Given the description of an element on the screen output the (x, y) to click on. 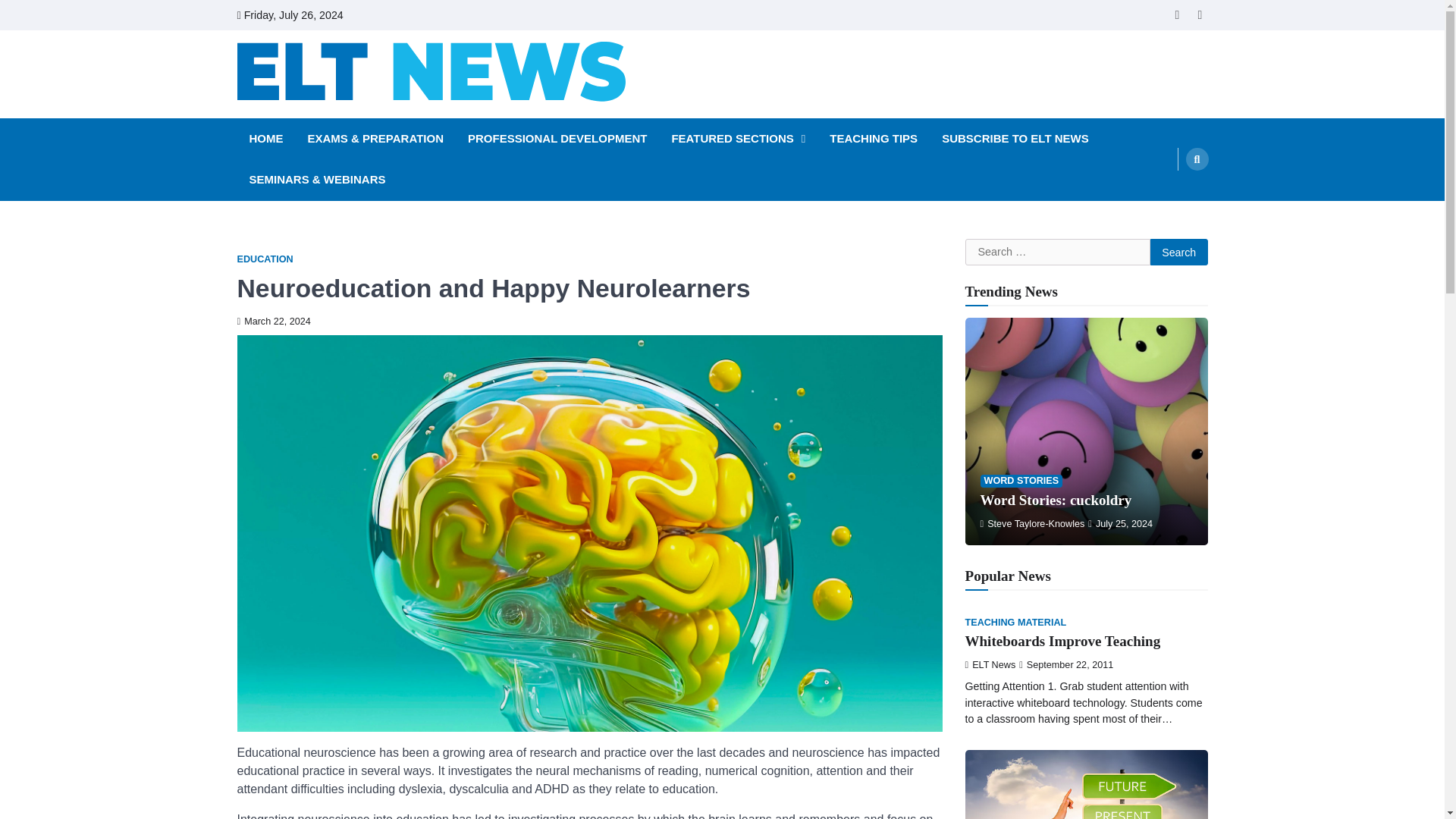
Facebook (1177, 14)
SUBSCRIBE TO ELT NEWS (1015, 139)
TEACHING TIPS (873, 139)
Search (1168, 194)
Search (1197, 159)
Instagram (1199, 14)
Search (1179, 252)
EDUCATION (263, 259)
PROFESSIONAL DEVELOPMENT (556, 139)
HOME (265, 139)
Search (1179, 252)
ELT NEWS (300, 122)
March 22, 2024 (272, 321)
Search (1179, 252)
FEATURED SECTIONS (737, 139)
